Given the description of an element on the screen output the (x, y) to click on. 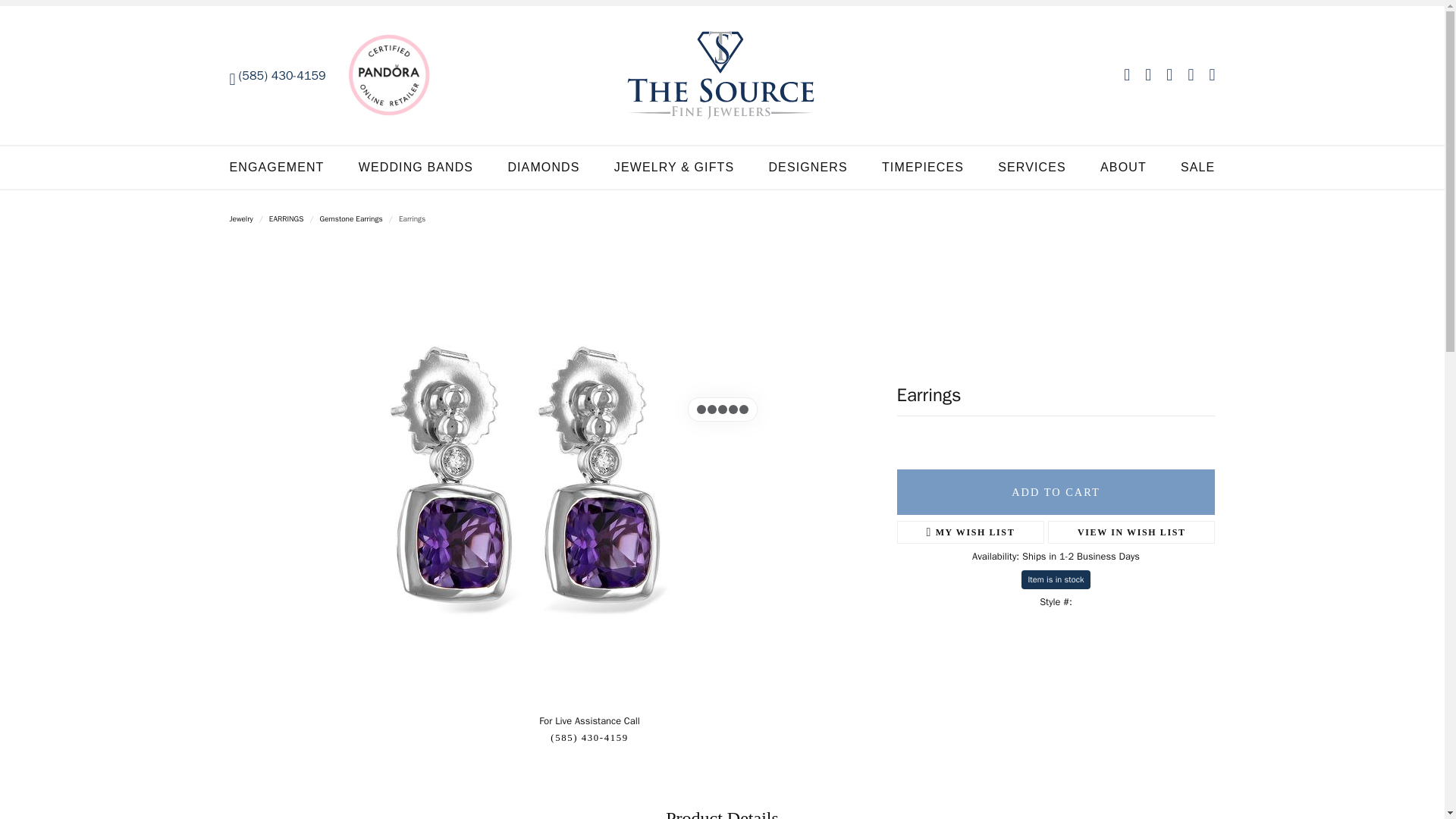
Skip to main content (7, 3)
ENGAGEMENT (275, 167)
WEDDING BANDS (415, 167)
DIAMONDS (542, 167)
